Given the description of an element on the screen output the (x, y) to click on. 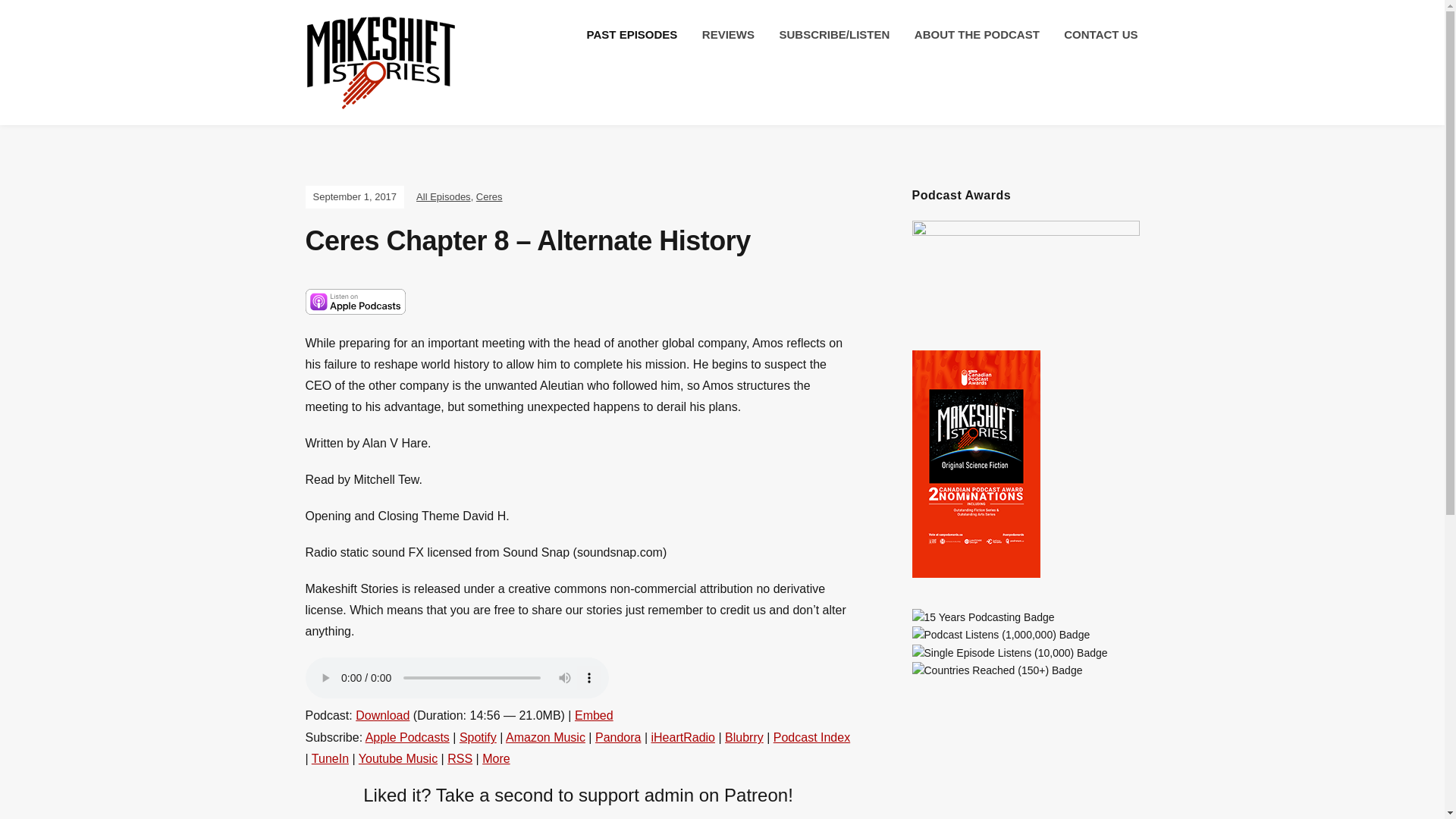
CONTACT US (1100, 34)
Subscribe on Pandora (618, 737)
Ceres (489, 196)
Download (382, 715)
15 Years Podcasting Badge (982, 617)
ABOUT THE PODCAST (976, 34)
Subscribe on Apple Podcasts (407, 737)
More (495, 758)
Embed (593, 715)
Subscribe on Amazon Music (545, 737)
